Given the description of an element on the screen output the (x, y) to click on. 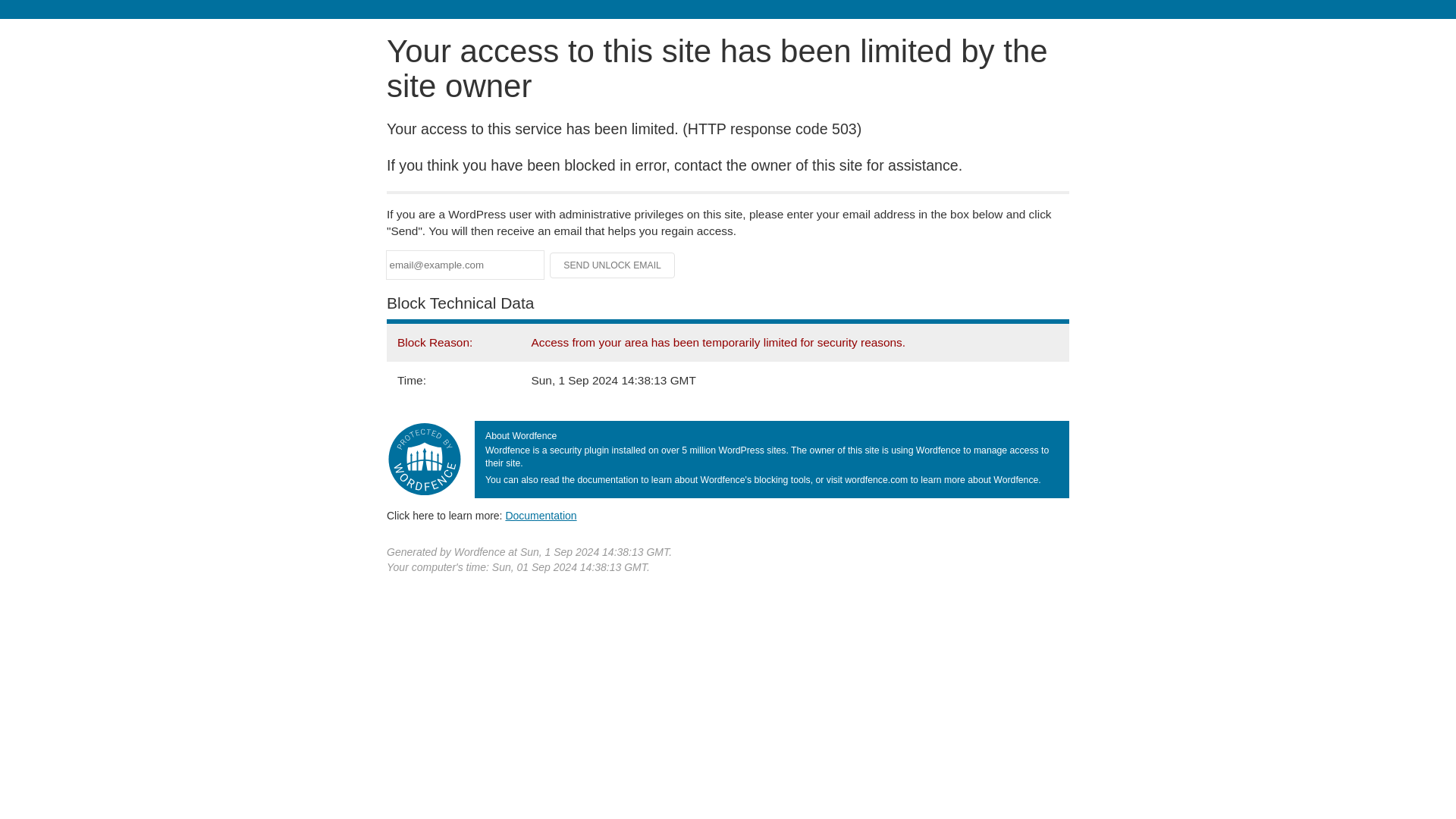
Send Unlock Email (612, 265)
Documentation (540, 515)
Send Unlock Email (612, 265)
